Given the description of an element on the screen output the (x, y) to click on. 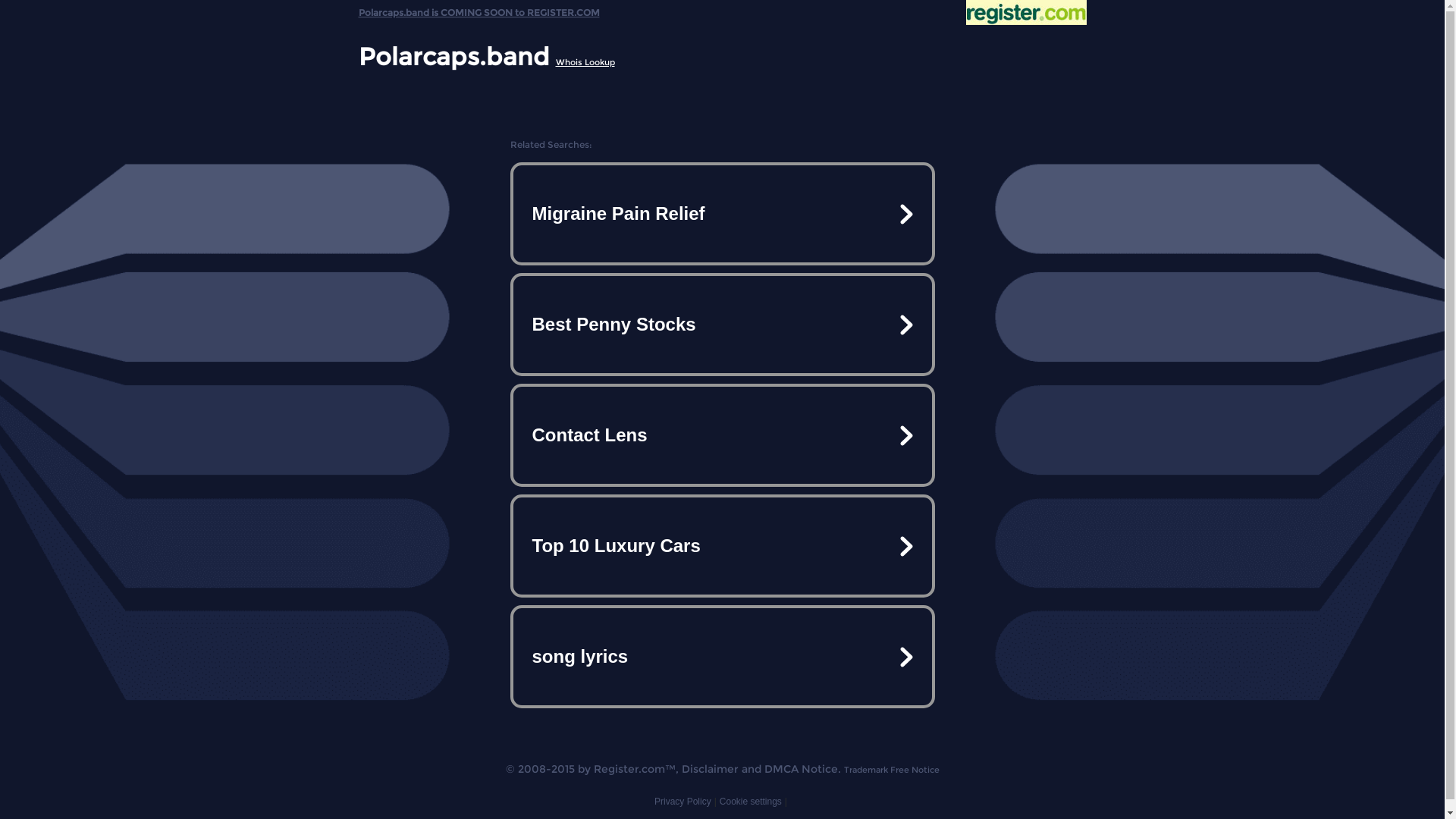
Contact Lens Element type: text (721, 434)
Privacy Policy Element type: text (682, 801)
Top 10 Luxury Cars Element type: text (721, 545)
song lyrics Element type: text (721, 656)
Migraine Pain Relief Element type: text (721, 213)
Polarcaps.band is COMING SOON to REGISTER.COM Element type: text (478, 9)
Cookie settings Element type: text (750, 801)
Best Penny Stocks Element type: text (721, 324)
Polarcaps.band Element type: text (453, 56)
Whois Lookup Element type: text (584, 61)
Trademark Free Notice Element type: text (890, 769)
